Given the description of an element on the screen output the (x, y) to click on. 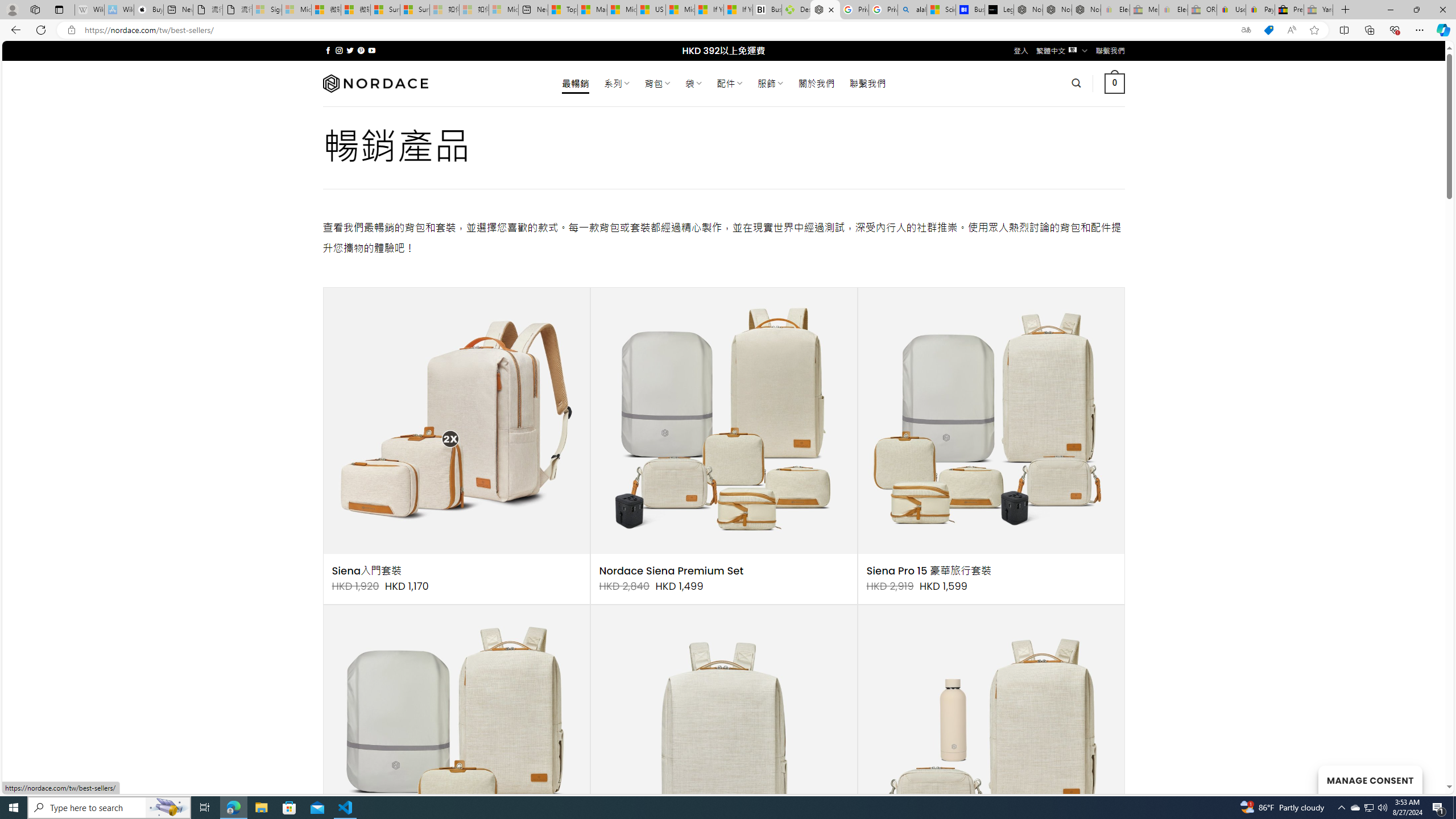
Close (1442, 9)
Sign in to your Microsoft account - Sleeping (266, 9)
 0  (1115, 83)
